Given the description of an element on the screen output the (x, y) to click on. 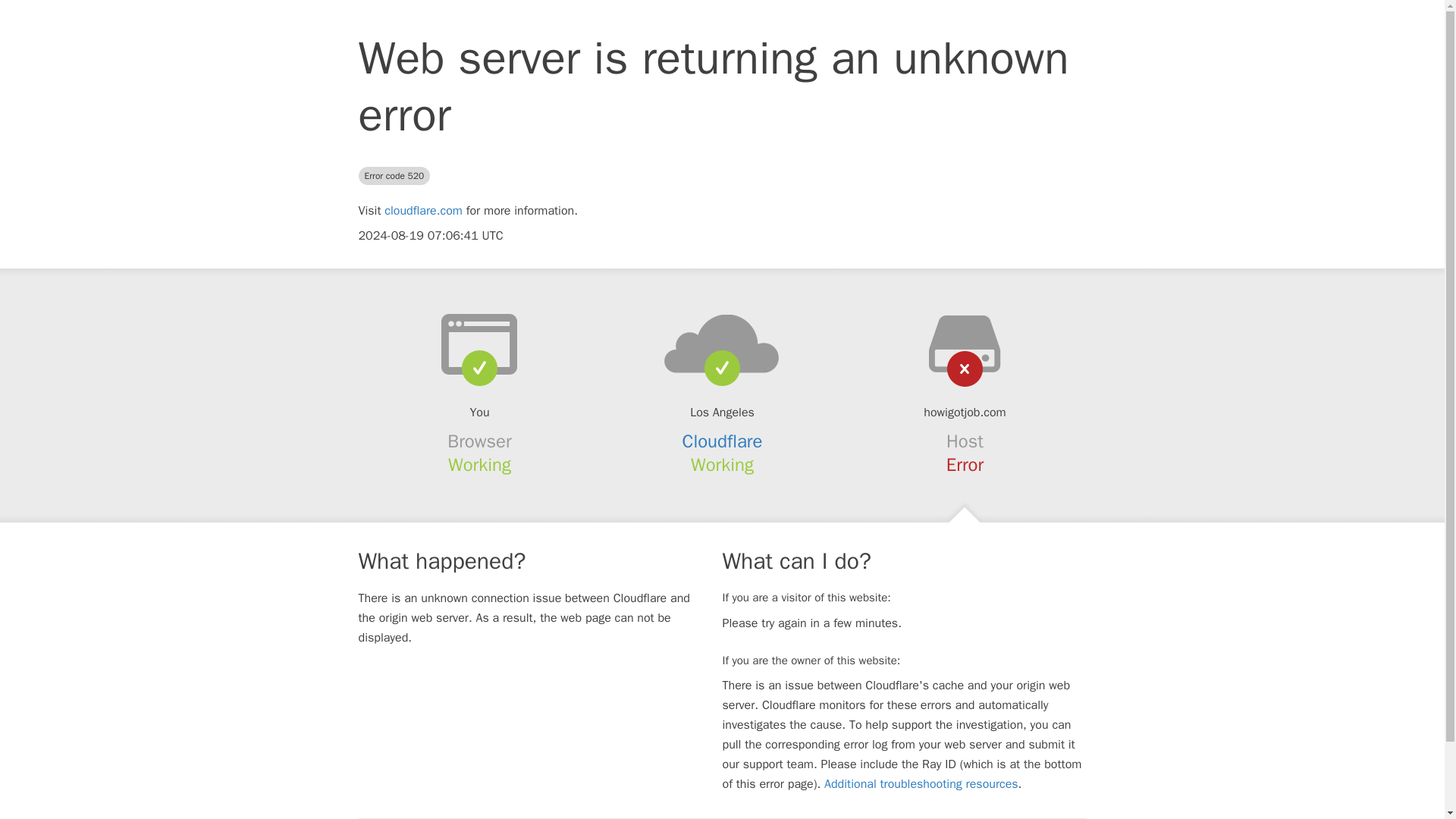
cloudflare.com (423, 210)
Cloudflare (722, 440)
Additional troubleshooting resources (920, 783)
